Given the description of an element on the screen output the (x, y) to click on. 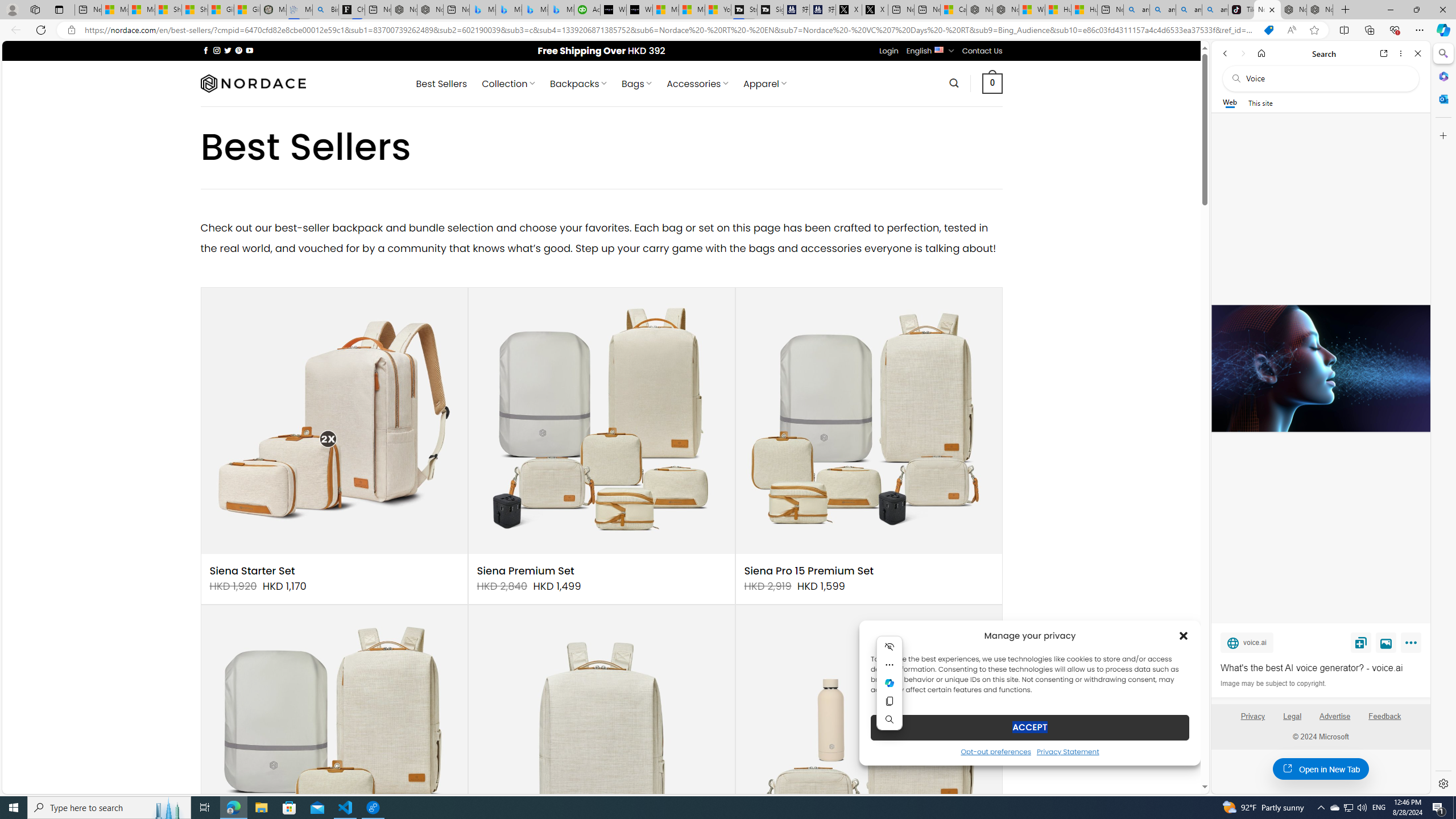
Follow on Pinterest (237, 49)
Follow on YouTube (249, 49)
Privacy (1252, 720)
Side bar (1443, 418)
Customize (1442, 135)
